Given the description of an element on the screen output the (x, y) to click on. 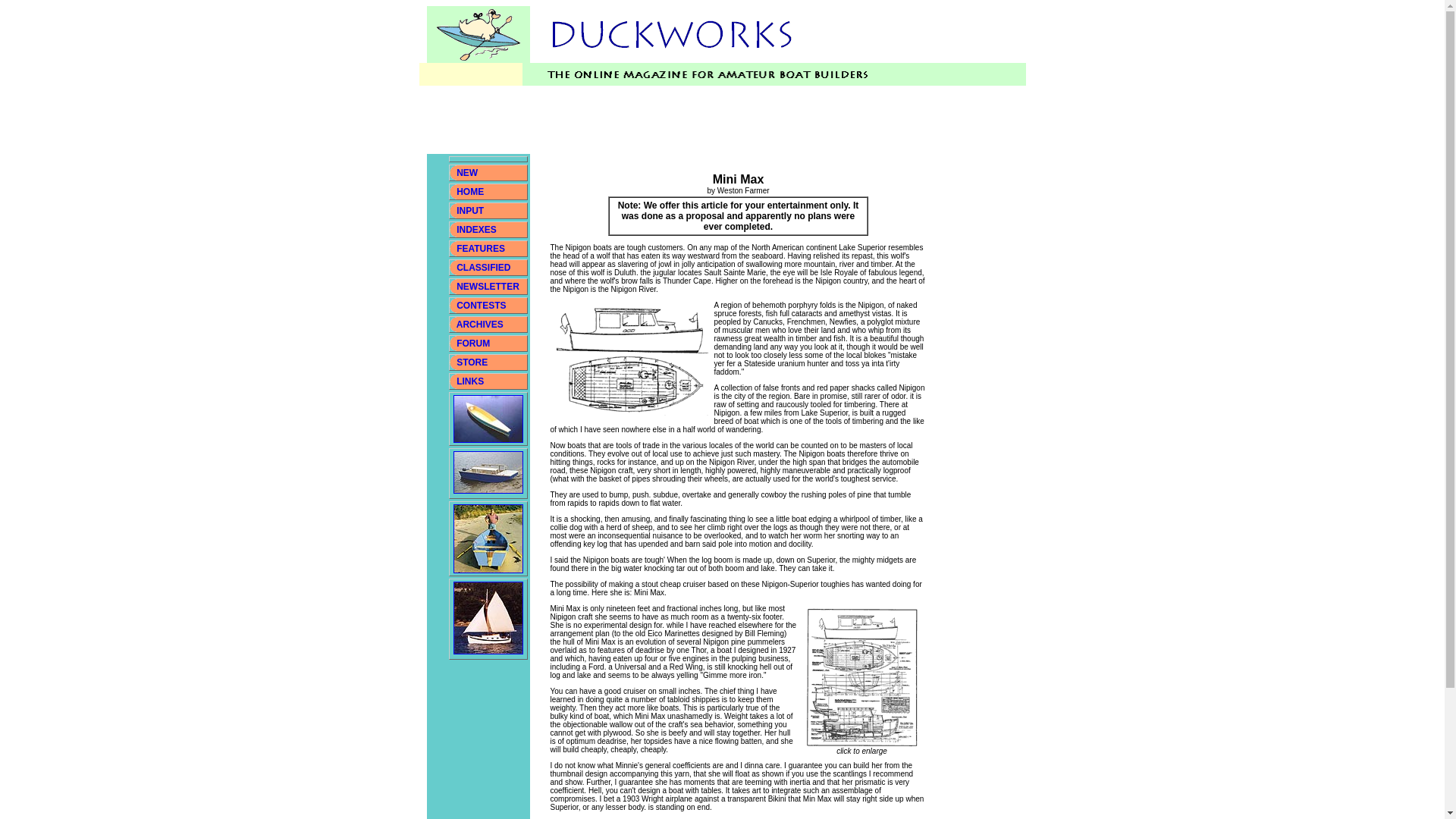
STORE (472, 362)
INDEXES (476, 229)
NEW (467, 172)
CONTESTS (481, 305)
HOME (470, 191)
FORUM (473, 343)
ARCHIVES (480, 324)
 LINKS (468, 380)
NEWSLETTER (488, 286)
Advertisement (702, 119)
CLASSIFIED (484, 267)
FEATURES (481, 248)
INPUT (470, 210)
